Given the description of an element on the screen output the (x, y) to click on. 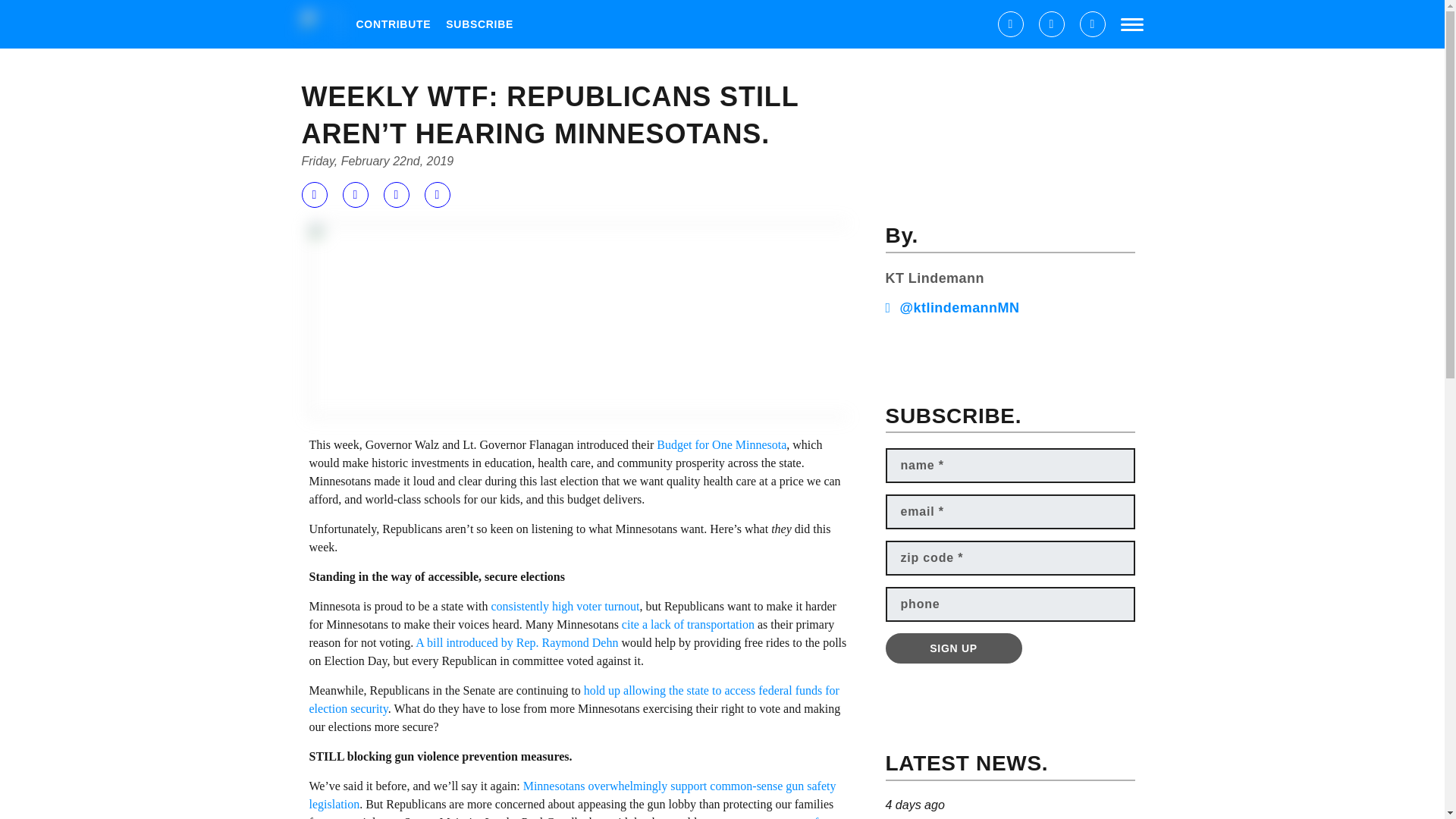
Budget for One Minnesota (721, 444)
Follow us on Twitter (1051, 23)
consistently high voter turnout (563, 605)
Share on Facebook (314, 194)
The Truth About The Heritage Foundation. (1010, 807)
cite a lack of transportation (689, 624)
Copy Link (437, 194)
Share on Twitter (355, 194)
